Given the description of an element on the screen output the (x, y) to click on. 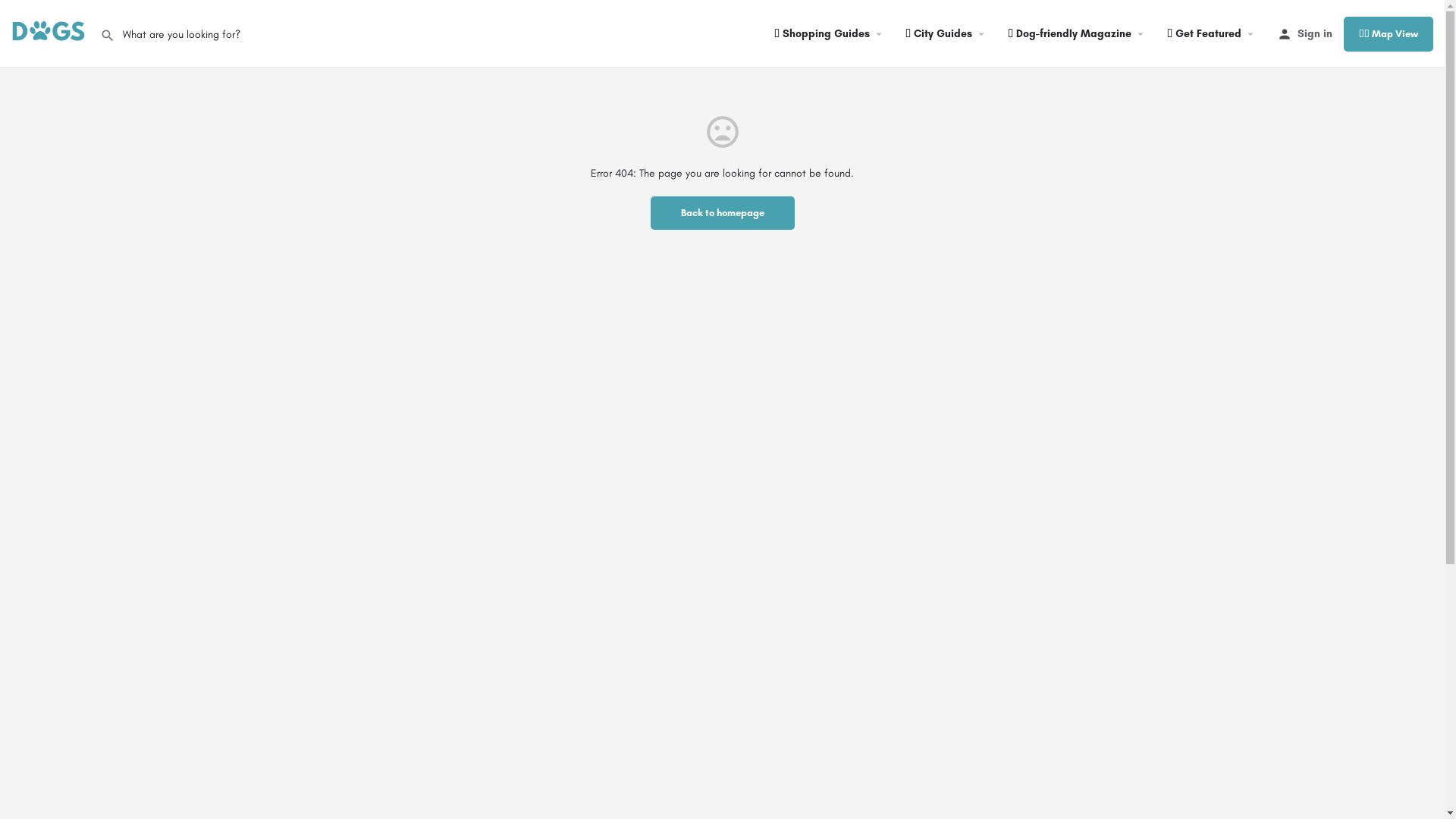
Sign in Element type: text (1314, 33)
Back to homepage Element type: text (722, 212)
